Given the description of an element on the screen output the (x, y) to click on. 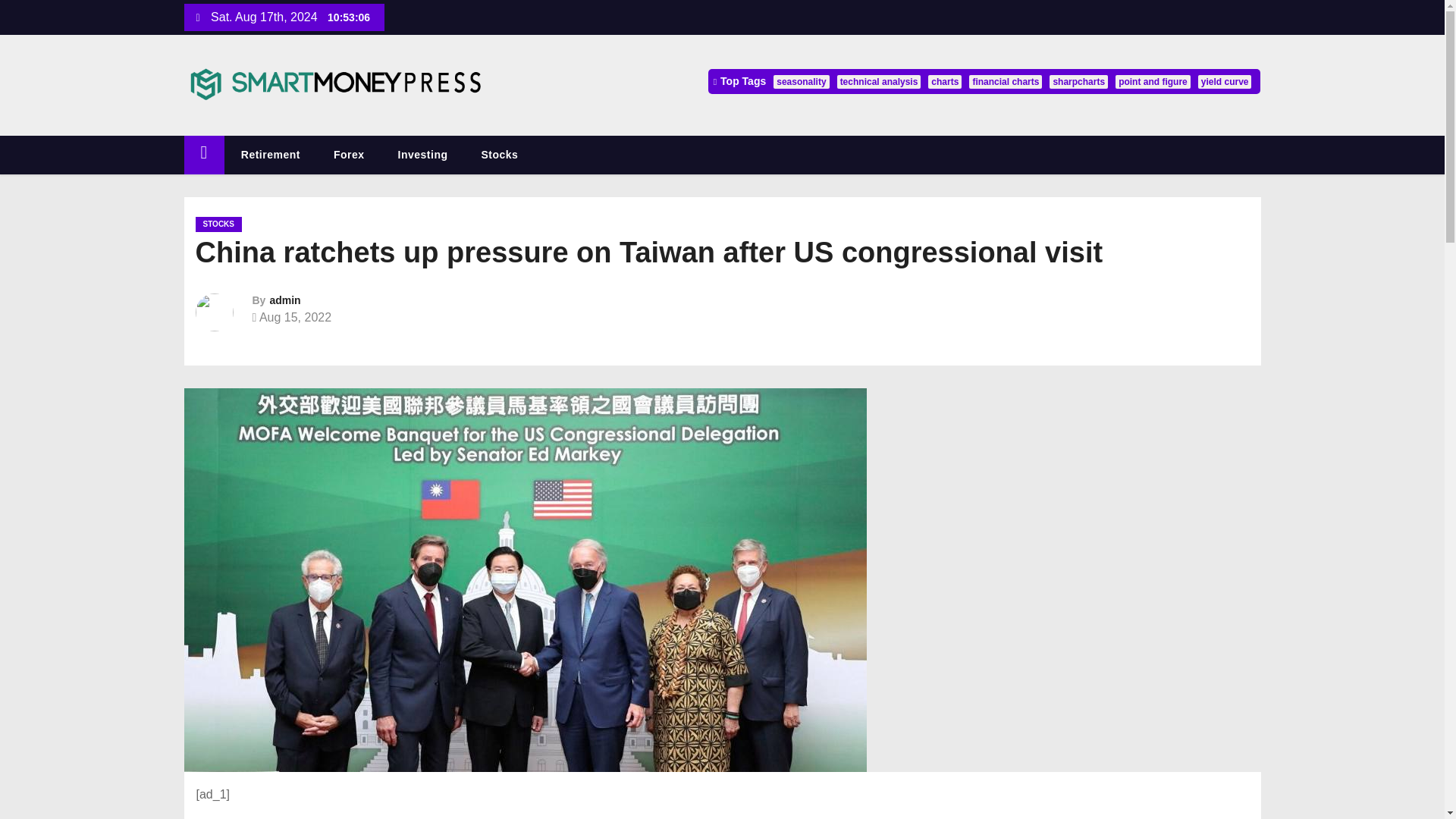
technical analysis (879, 81)
Forex (349, 154)
Investing (422, 154)
Forex (349, 154)
STOCKS (219, 224)
sharpcharts (1078, 81)
charts (944, 81)
seasonality (800, 81)
financial charts (1005, 81)
Retirement (270, 154)
